Given the description of an element on the screen output the (x, y) to click on. 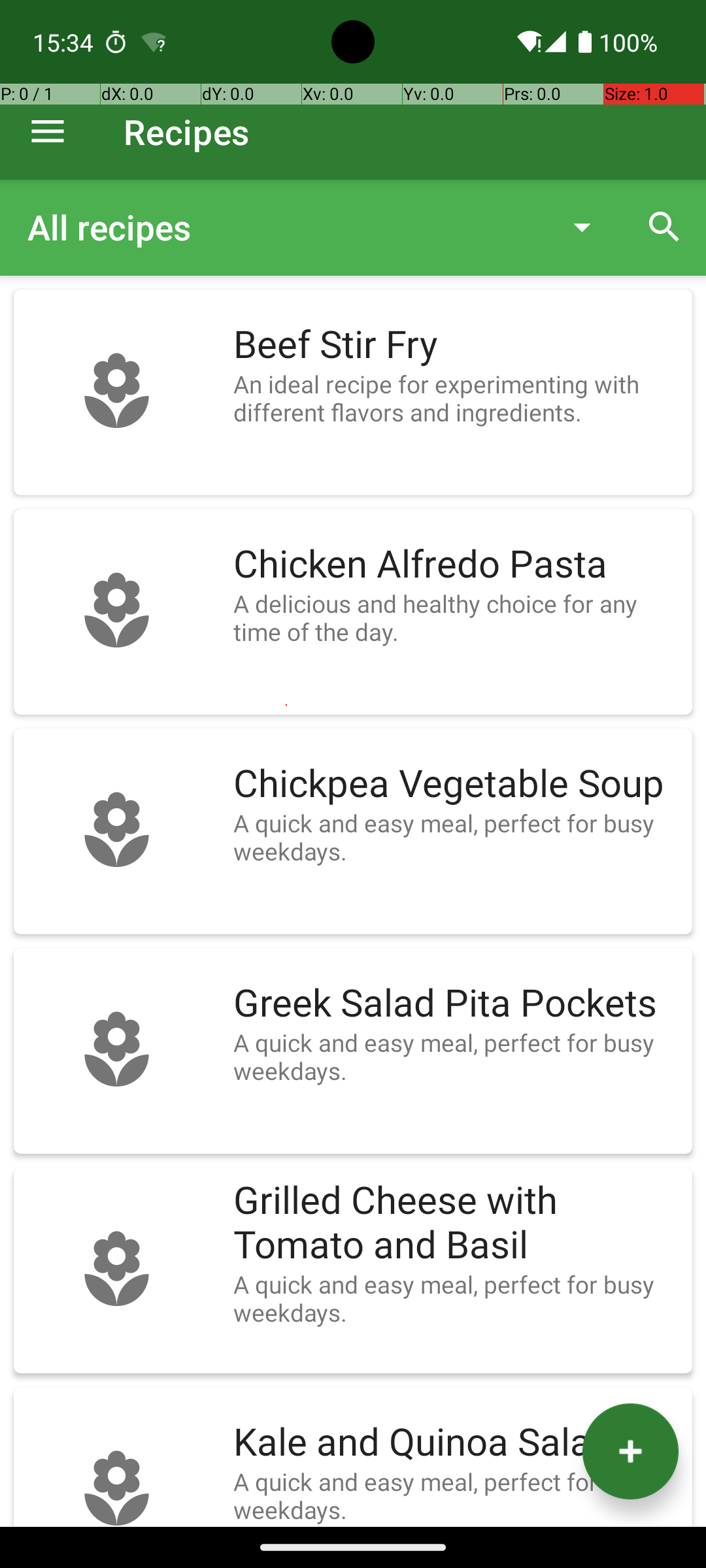
Chickpea Vegetable Soup Element type: android.widget.TextView (455, 783)
Greek Salad Pita Pockets Element type: android.widget.TextView (455, 1003)
Grilled Cheese with Tomato and Basil Element type: android.widget.TextView (455, 1222)
Kale and Quinoa Salad Element type: android.widget.TextView (455, 1442)
Android System notification: AndroidWifi has limited connectivity Element type: android.widget.ImageView (153, 41)
Wifi signal full.,No internet Element type: android.widget.FrameLayout (527, 41)
